Given the description of an element on the screen output the (x, y) to click on. 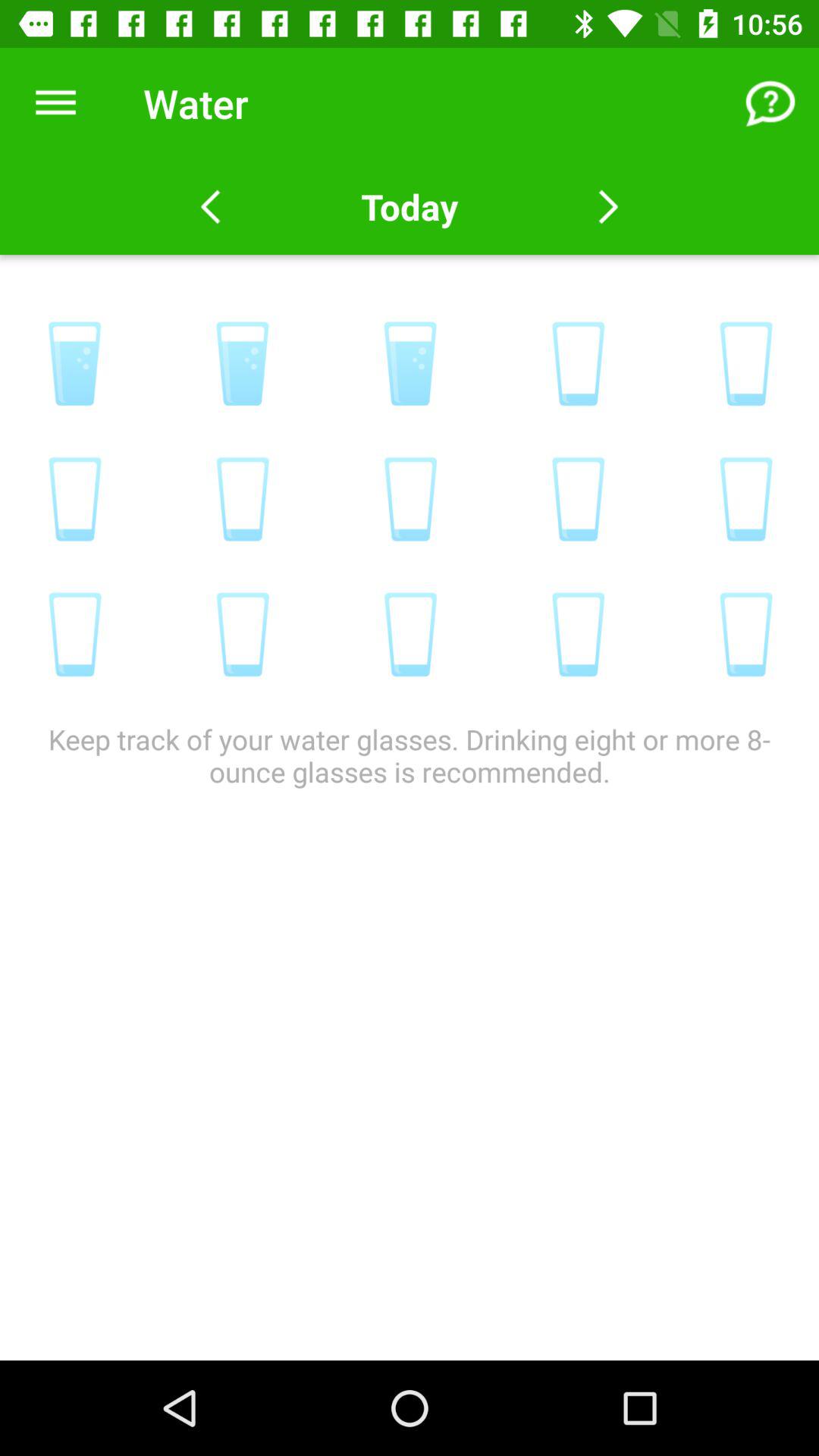
press today item (409, 206)
